Given the description of an element on the screen output the (x, y) to click on. 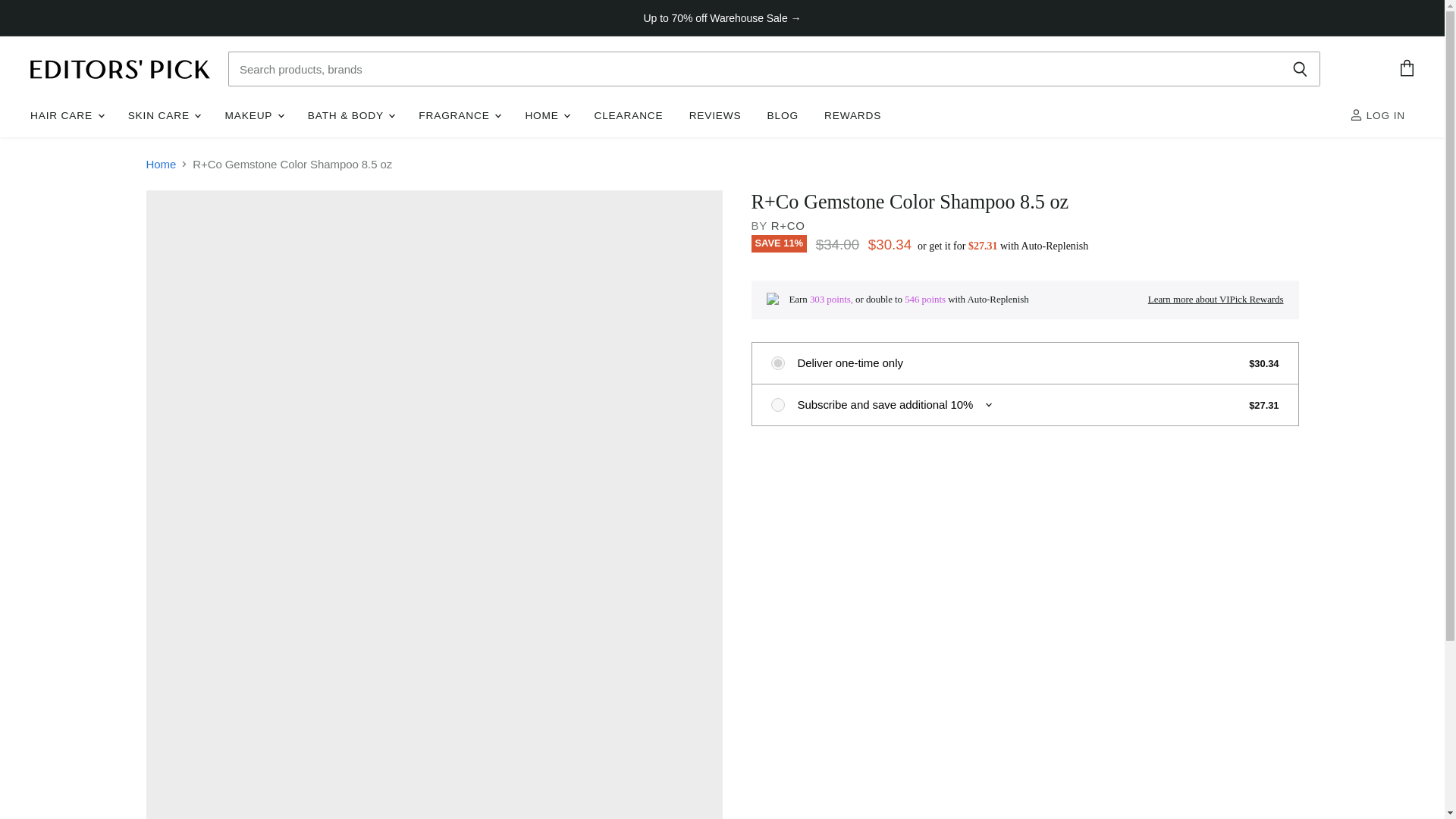
SKIN CARE (163, 115)
on (777, 404)
HAIR CARE (65, 115)
ACCOUNT ICON (1355, 114)
on (777, 363)
